Given the description of an element on the screen output the (x, y) to click on. 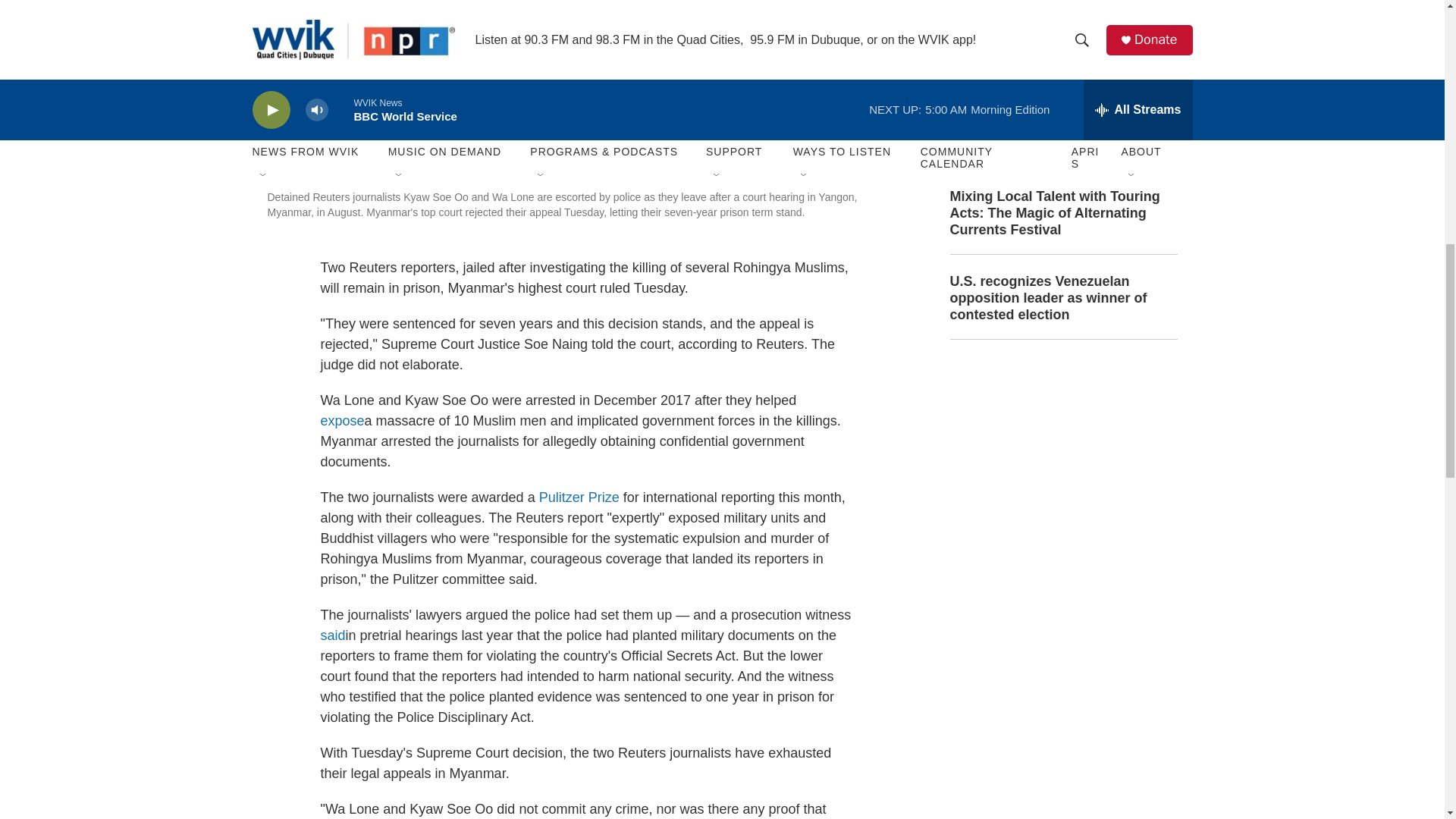
3rd party ad content (1062, 464)
